Given the description of an element on the screen output the (x, y) to click on. 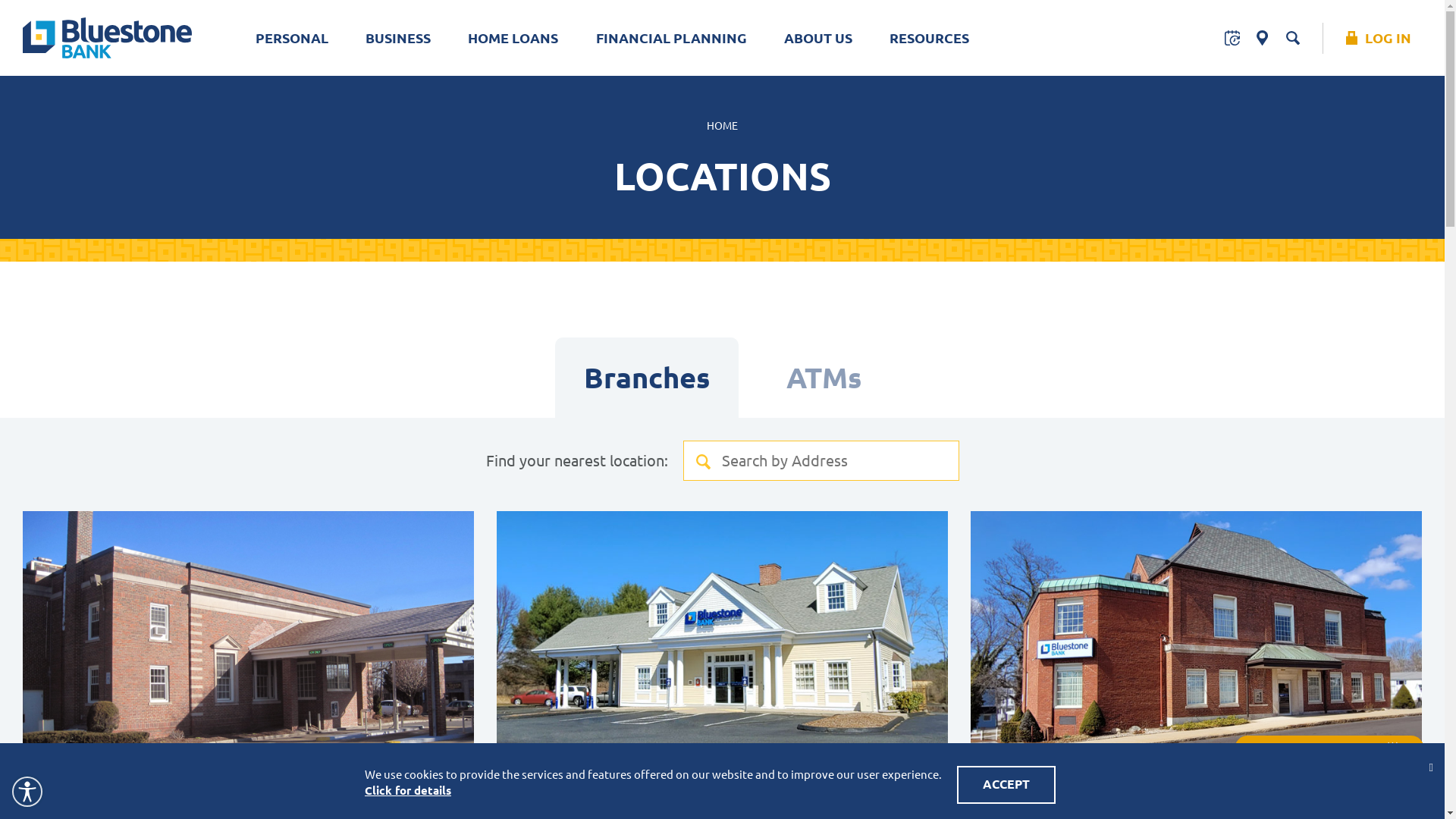
Make an Appointment Element type: hover (1232, 37)
ACCEPT Element type: text (1006, 784)
Click for details Element type: text (407, 789)
Branches Element type: text (646, 377)
HOME LOANS Element type: text (513, 37)
PERSONAL Element type: text (291, 37)
BUSINESS Element type: text (398, 37)
Make an Appointment Element type: text (1329, 748)
RESOURCES Element type: text (929, 37)
ATMs Element type: text (822, 377)
FINANCIAL PLANNING Element type: text (670, 37)
Search Element type: hover (1292, 37)
Search Element type: text (820, 480)
ABOUT US Element type: text (817, 37)
Locations Element type: hover (1262, 37)
LOG IN Element type: text (1383, 37)
